Given the description of an element on the screen output the (x, y) to click on. 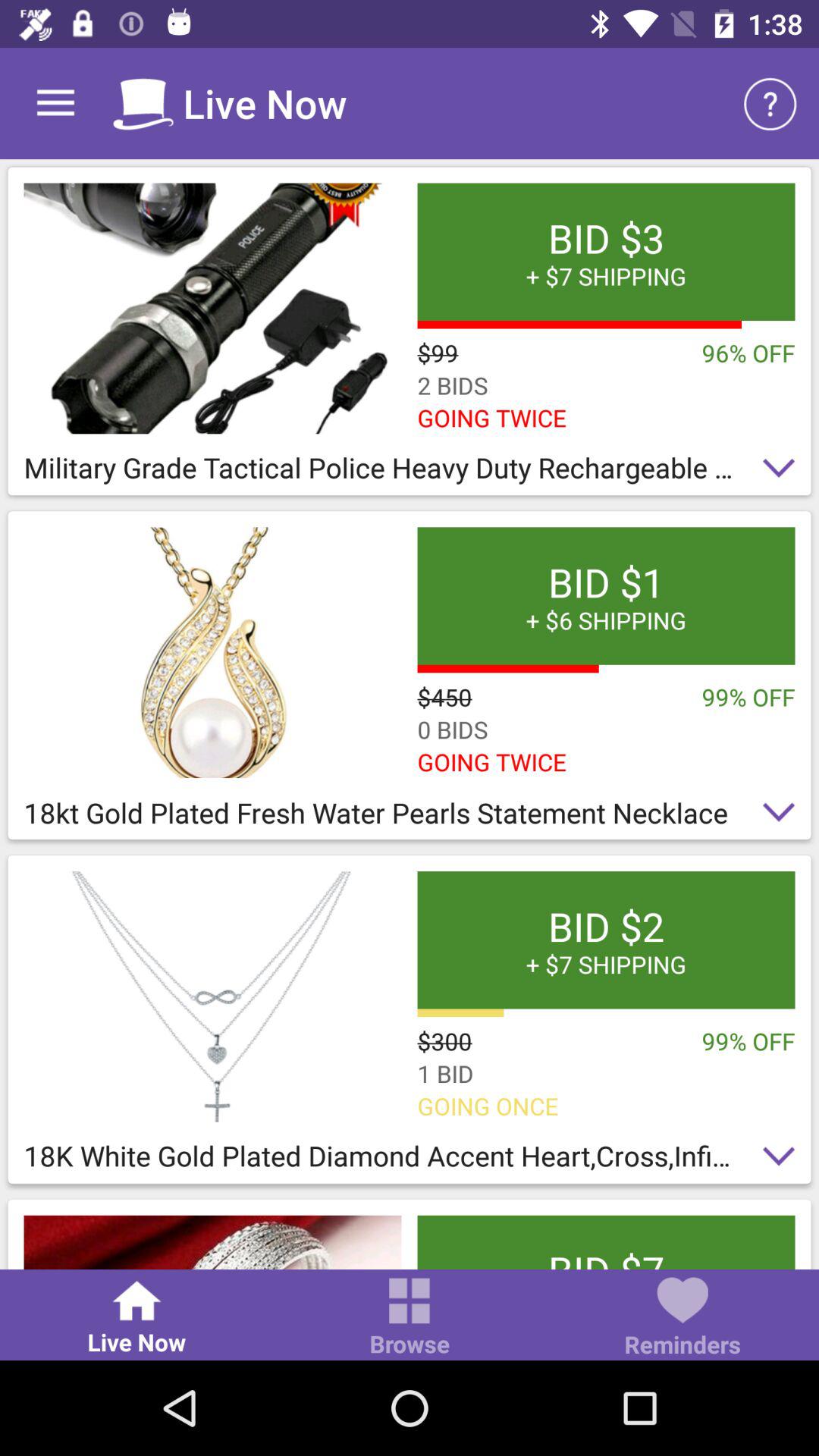
zoom in on image (212, 996)
